Given the description of an element on the screen output the (x, y) to click on. 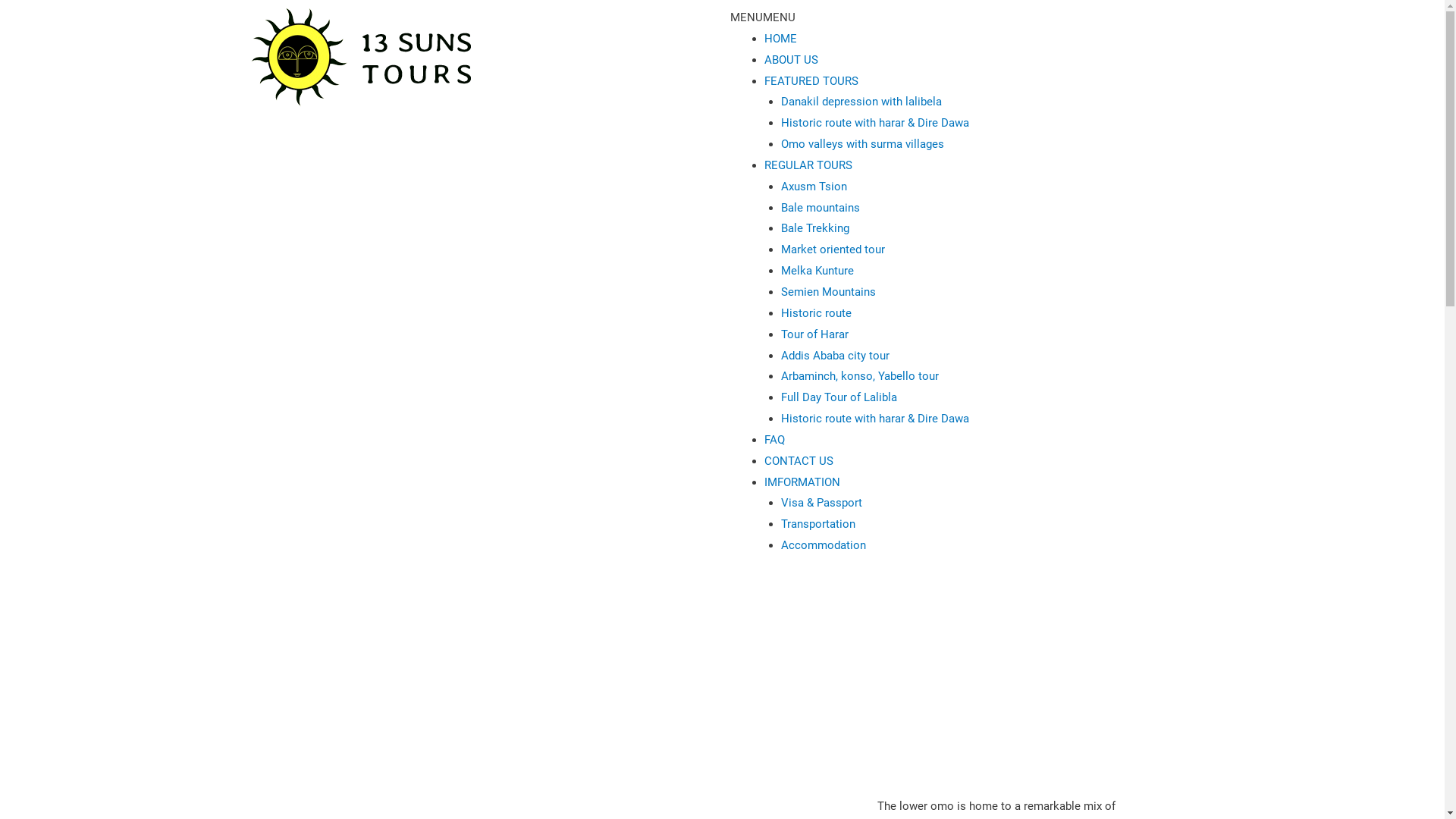
Historic route with harar & Dire Dawa Element type: text (875, 122)
Omo valleys with surma villages Element type: text (862, 143)
Bale mountains Element type: text (820, 207)
Danakil depression with lalibela Element type: text (861, 101)
Historic route with harar & Dire Dawa Element type: text (875, 418)
Addis Ababa city tour Element type: text (835, 355)
Visa & Passport Element type: text (821, 502)
REGULAR TOURS Element type: text (808, 165)
IMFORMATION Element type: text (802, 482)
Arbaminch, konso, Yabello tour Element type: text (859, 375)
FAQ Element type: text (774, 439)
Historic route Element type: text (816, 313)
HOME Element type: text (780, 38)
Bale Trekking Element type: text (815, 228)
Market oriented tour Element type: text (832, 249)
Accommodation Element type: text (823, 545)
Transportation Element type: text (818, 523)
Full Day Tour of Lalibla Element type: text (839, 397)
Melka Kunture Element type: text (817, 270)
Tour of Harar Element type: text (814, 334)
Axusm Tsion Element type: text (814, 186)
ABOUT US Element type: text (791, 59)
CONTACT US Element type: text (798, 460)
Semien Mountains Element type: text (828, 291)
FEATURED TOURS Element type: text (811, 80)
